Given the description of an element on the screen output the (x, y) to click on. 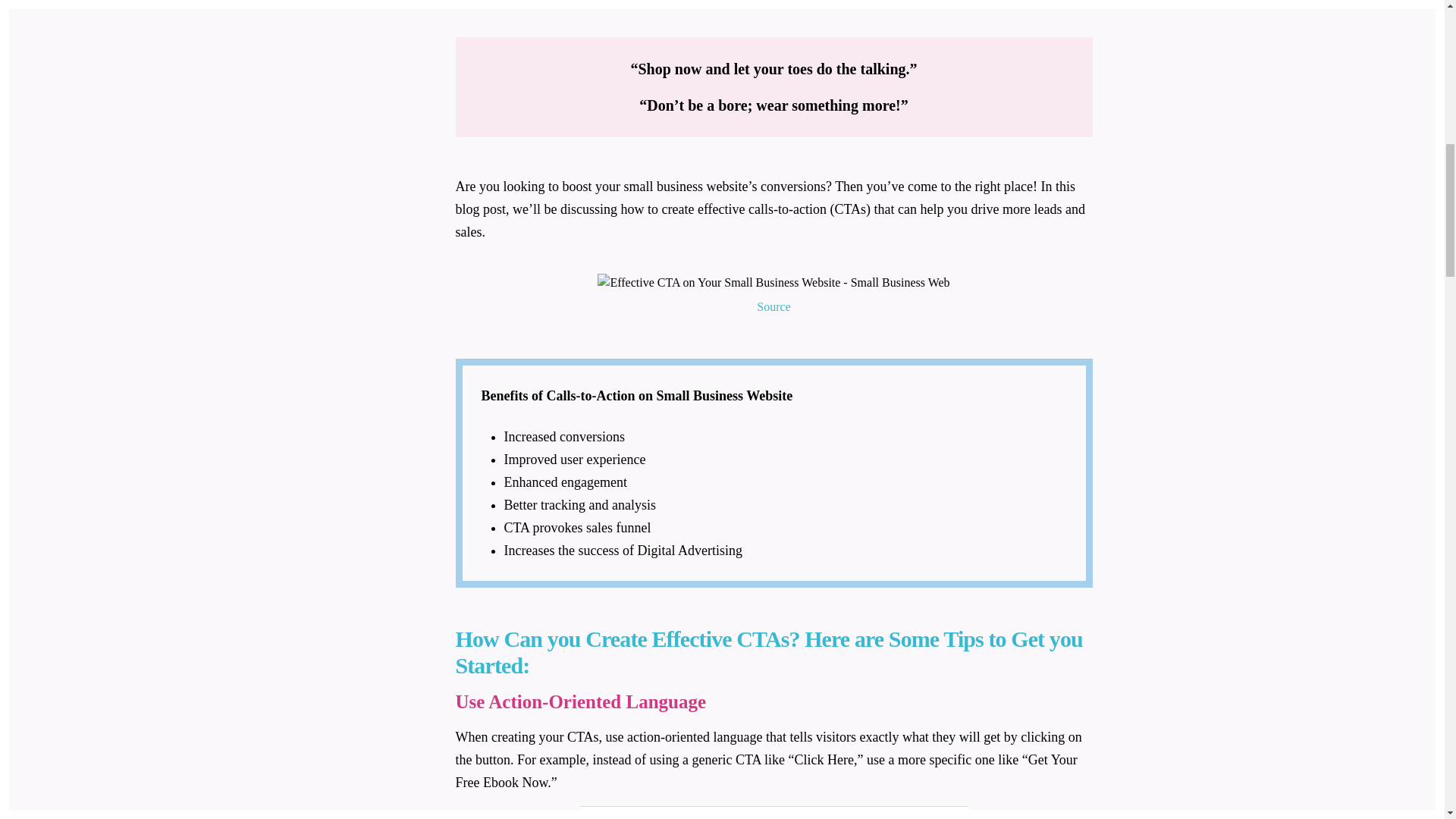
Source (773, 306)
